Given the description of an element on the screen output the (x, y) to click on. 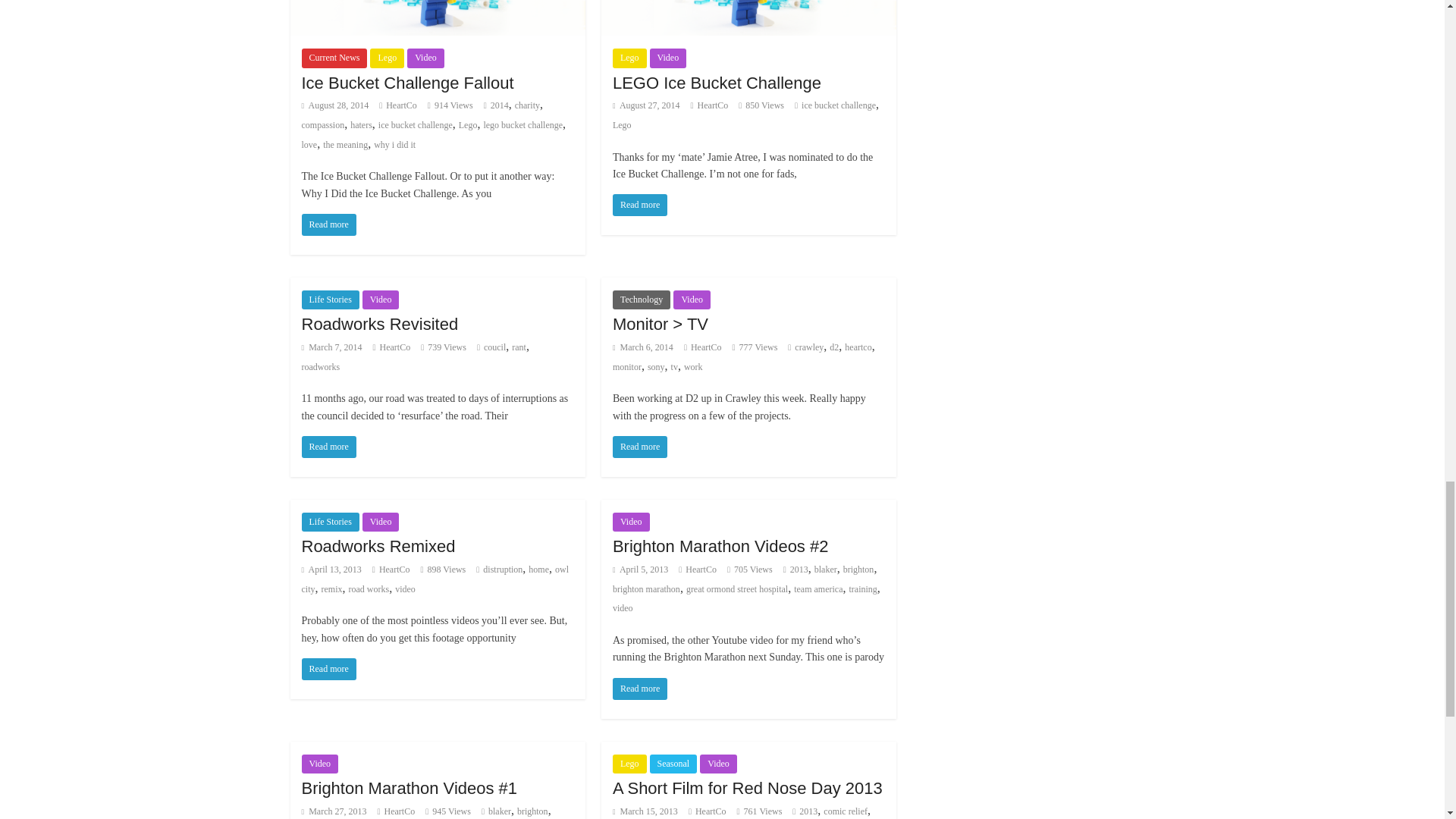
4:52 pm (335, 104)
3:15 pm (645, 104)
Ice Bucket Challenge Fallout (328, 224)
Ice Bucket Challenge Fallout (407, 82)
LEGO Ice Bucket Challenge (716, 82)
HeartCo (713, 104)
HeartCo (400, 104)
